Given the description of an element on the screen output the (x, y) to click on. 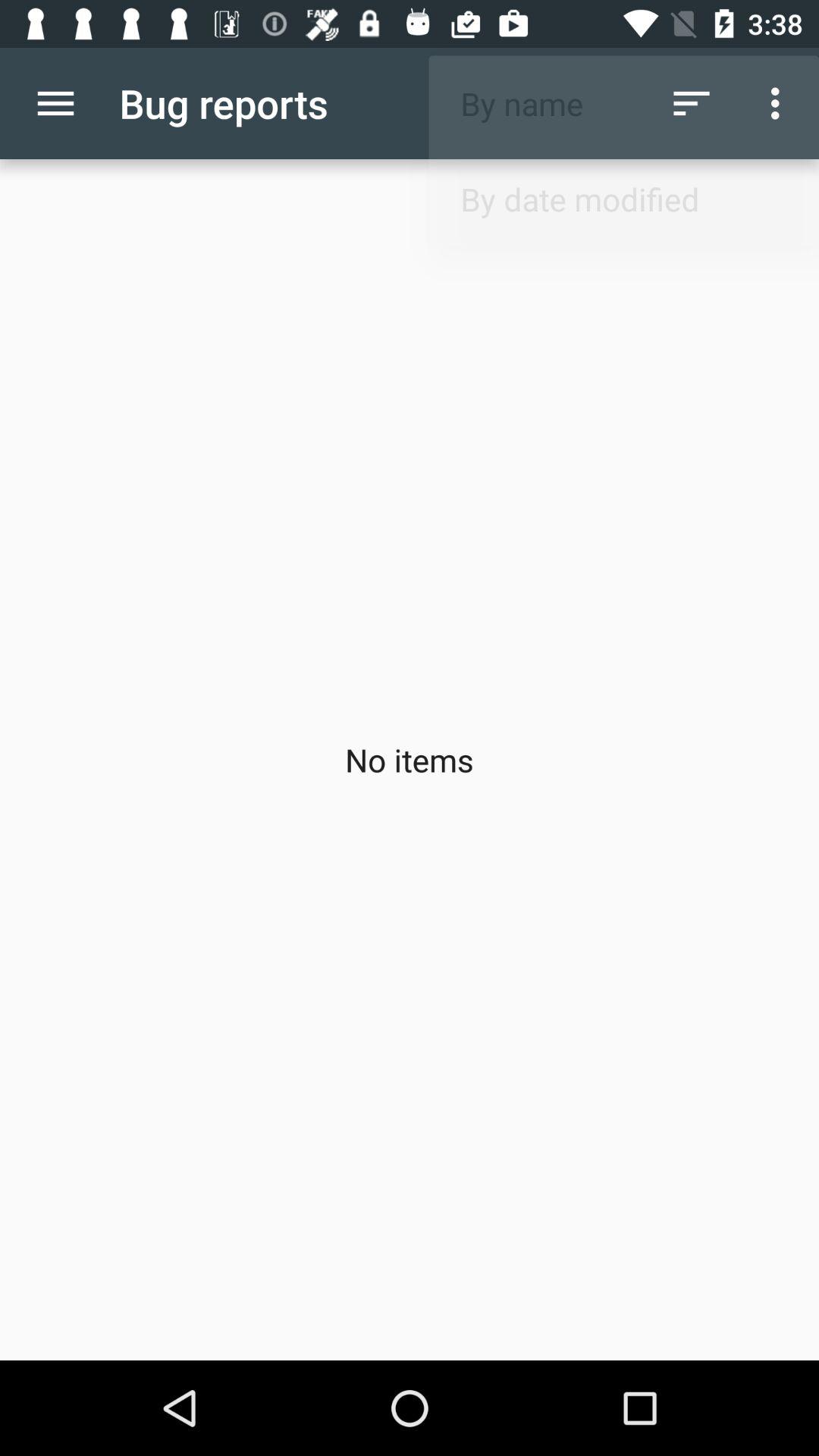
select icon above no items item (779, 103)
